Given the description of an element on the screen output the (x, y) to click on. 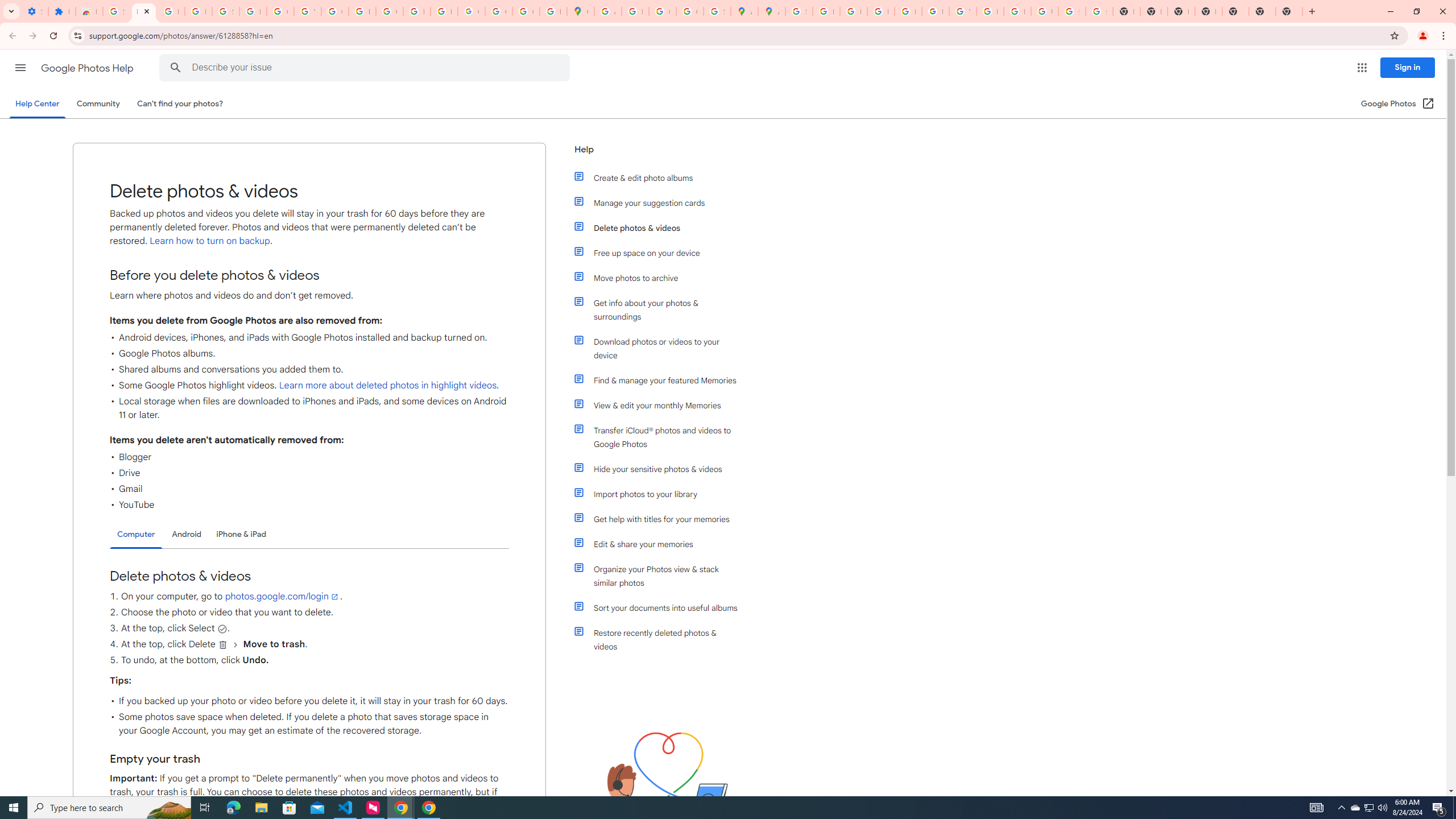
Learn how to find your photos - Google Photos Help (170, 11)
Can't find your photos? (180, 103)
Manage your suggestion cards (661, 202)
Select (221, 628)
Google Photos Help (87, 68)
Computer (136, 534)
Delete photos & videos - Computer - Google Photos Help (144, 11)
Edit & share your memories (661, 543)
Android (186, 533)
